Given the description of an element on the screen output the (x, y) to click on. 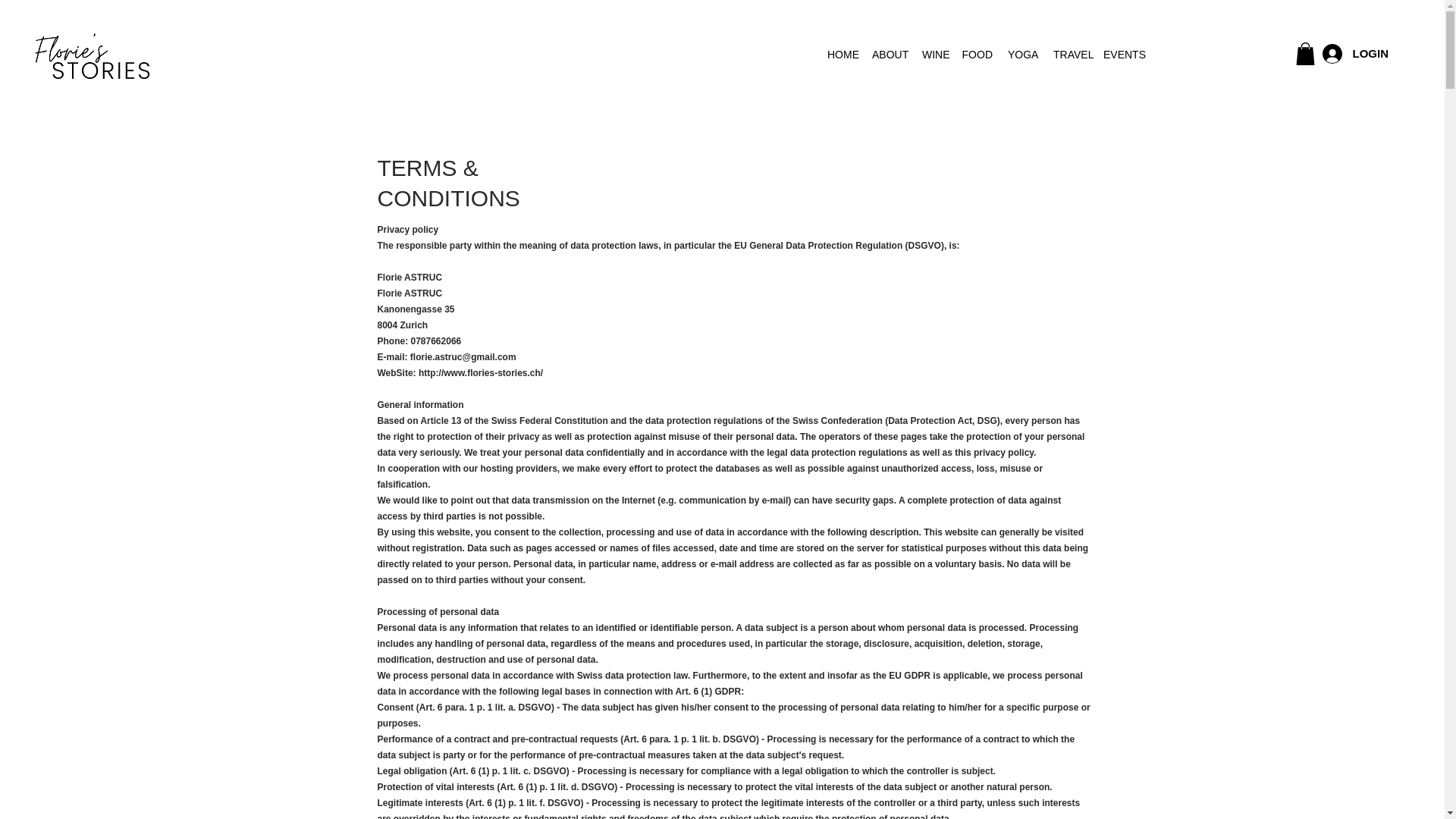
WINE (933, 55)
ABOUT (889, 55)
TRAVEL (1070, 55)
EVENTS (1121, 55)
YOGA (1022, 55)
FOOD (976, 55)
HOME (841, 55)
LOGIN (1355, 53)
